Given the description of an element on the screen output the (x, y) to click on. 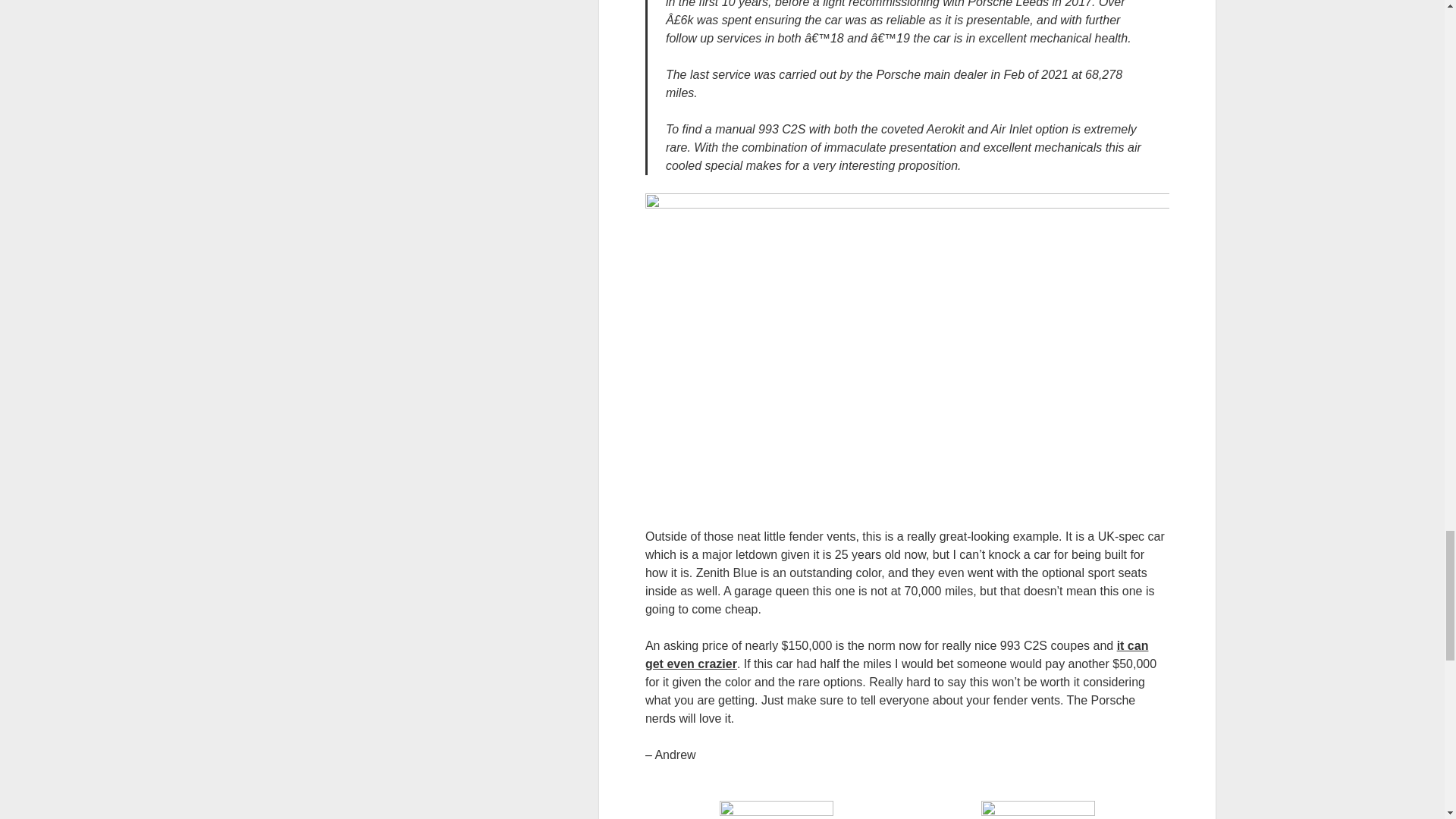
it can get even crazier (896, 654)
